Given the description of an element on the screen output the (x, y) to click on. 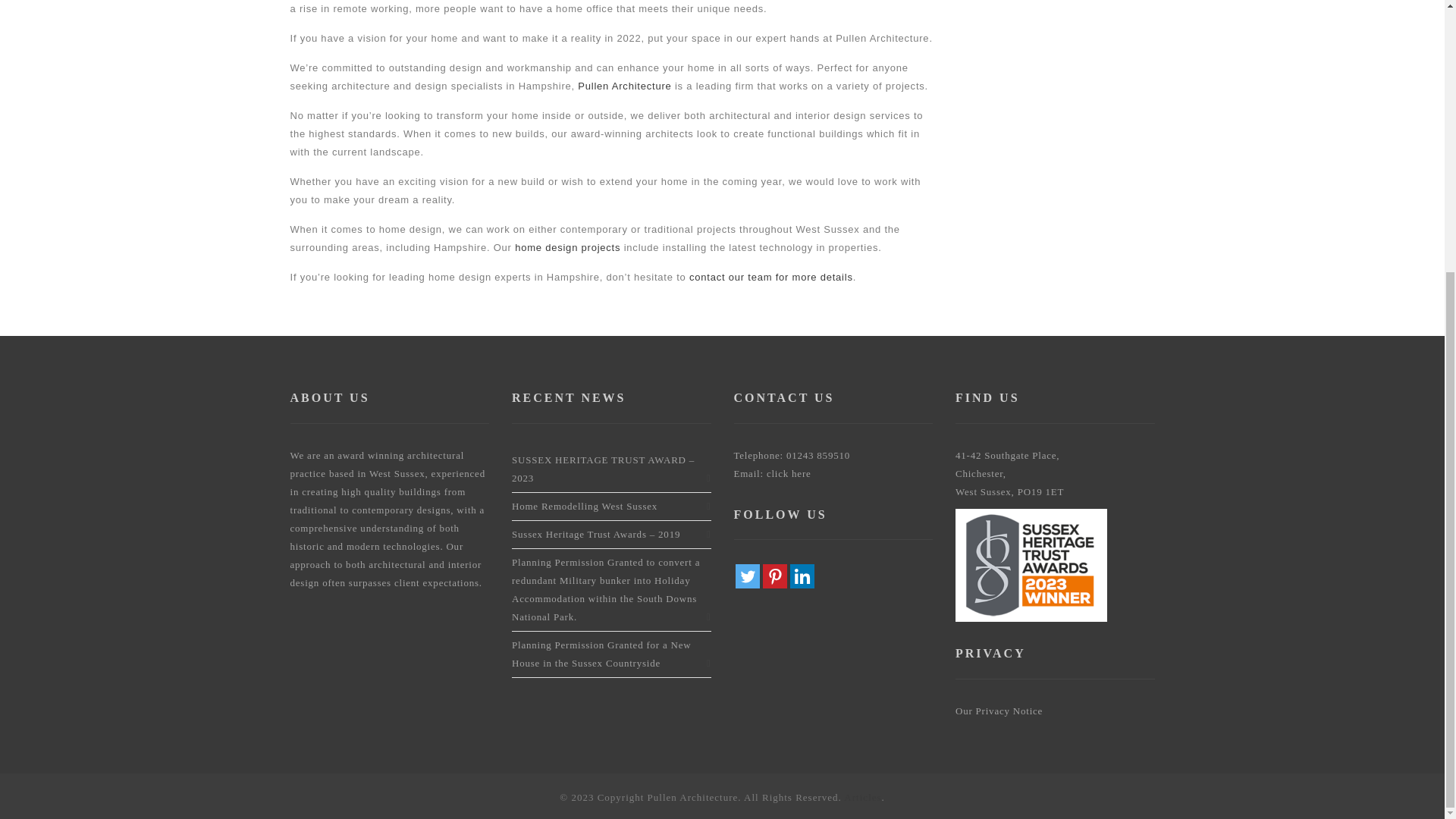
Pinterest (774, 576)
home design projects (567, 247)
Home Remodelling West Sussex (585, 505)
Pullen Architecture (624, 85)
click here (788, 473)
contact our team for more details (770, 276)
Twitter (747, 576)
linkedinCompany (801, 576)
Our Privacy Notice (998, 710)
